Given the description of an element on the screen output the (x, y) to click on. 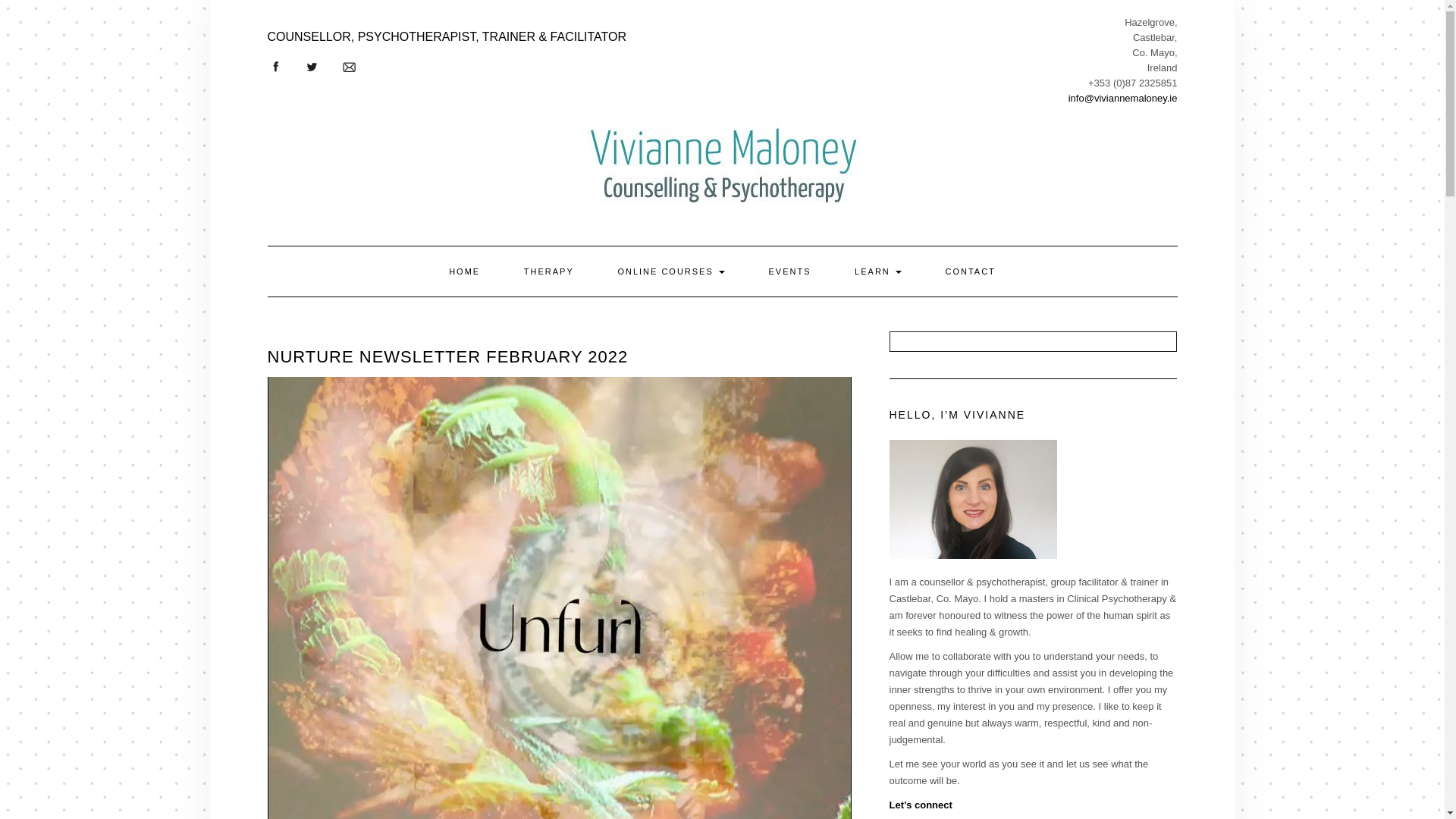
LEARN (877, 271)
EVENTS (789, 271)
ONLINE COURSES (670, 271)
HOME (464, 271)
CONTACT (969, 271)
THERAPY (548, 271)
